Given the description of an element on the screen output the (x, y) to click on. 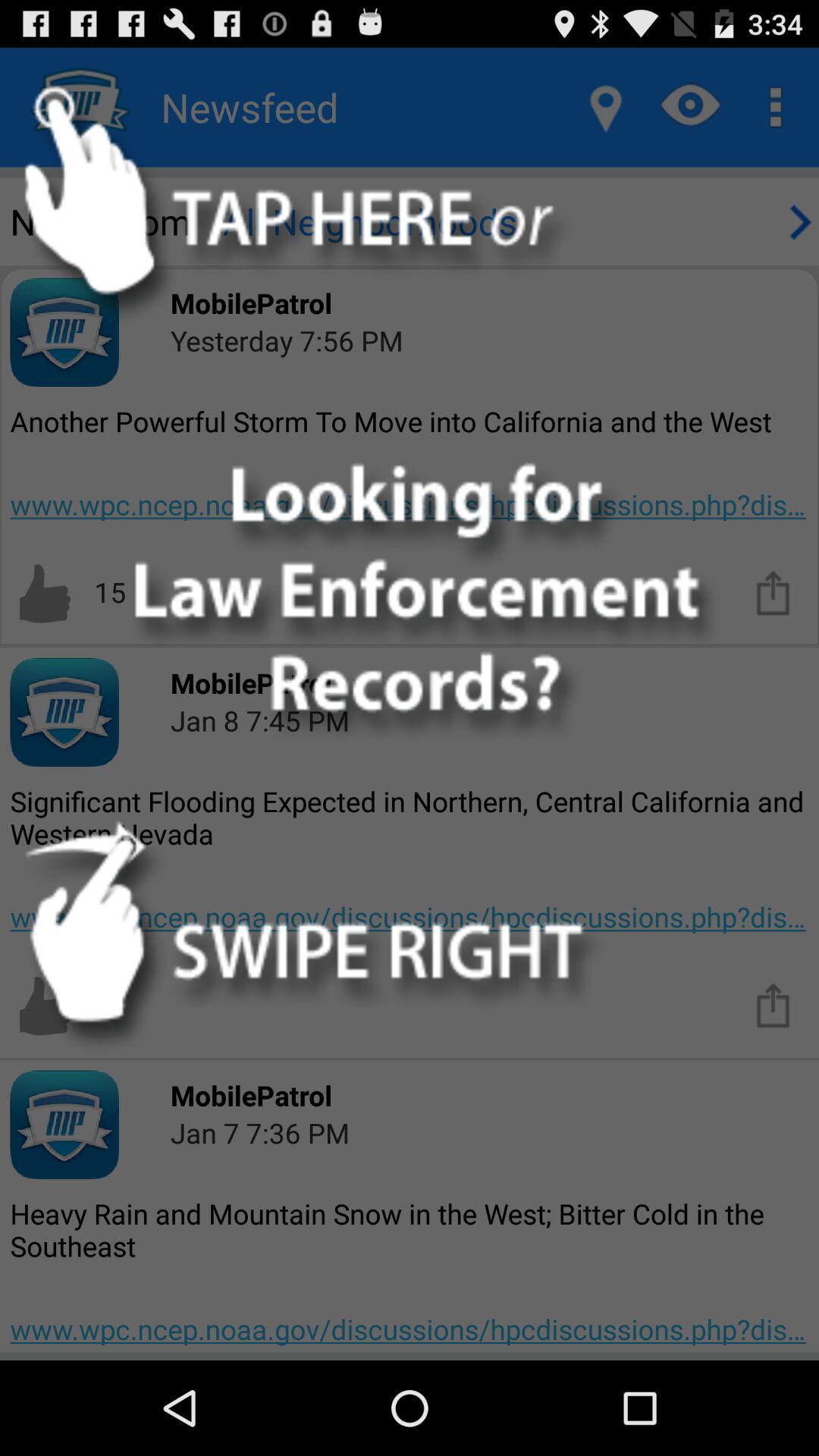
next page (797, 221)
